Given the description of an element on the screen output the (x, y) to click on. 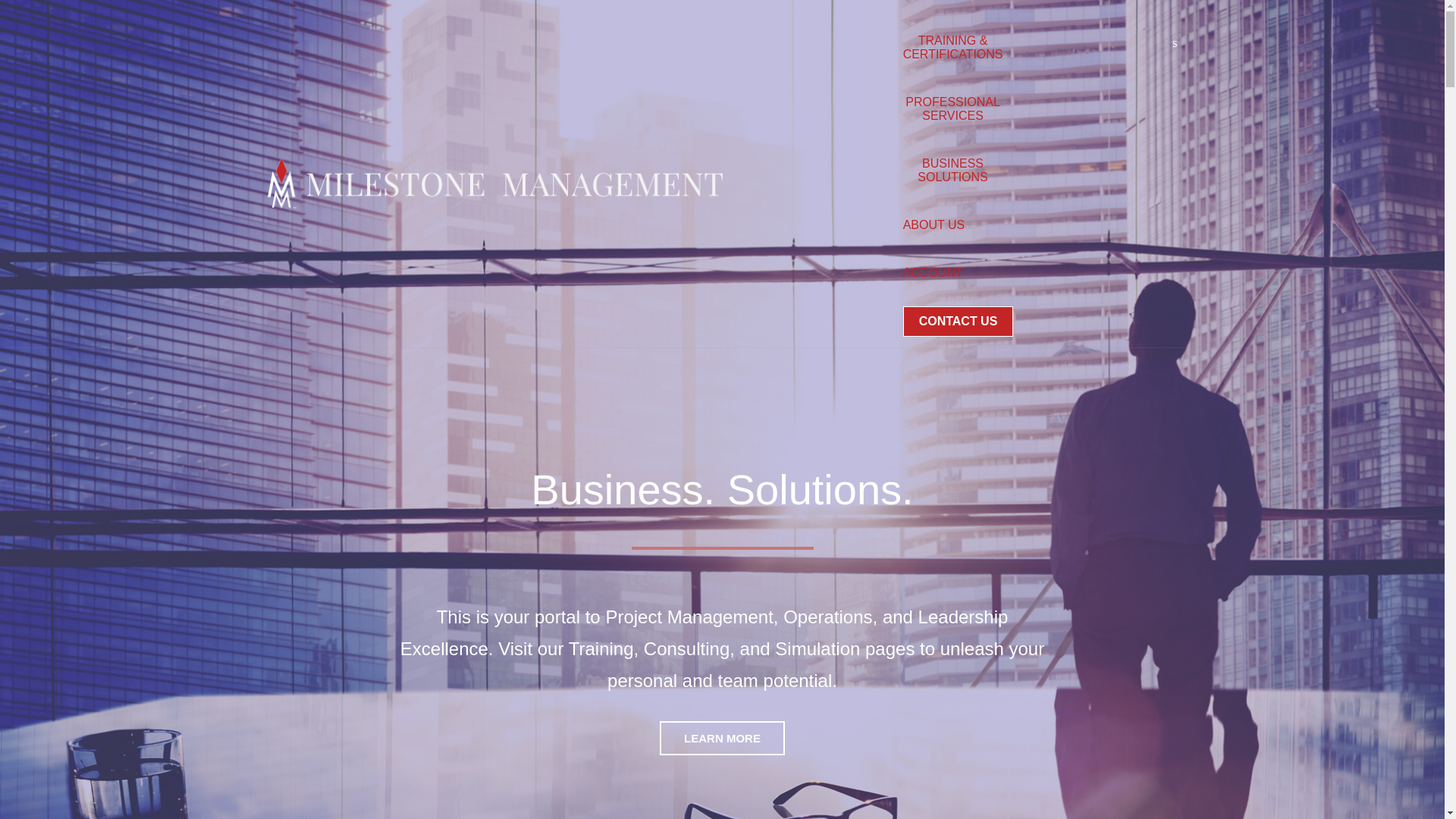
ABOUT US (933, 224)
ACCOUNT (932, 273)
BUSINESS SOLUTIONS (952, 170)
PROFESSIONAL SERVICES (952, 108)
